Given the description of an element on the screen output the (x, y) to click on. 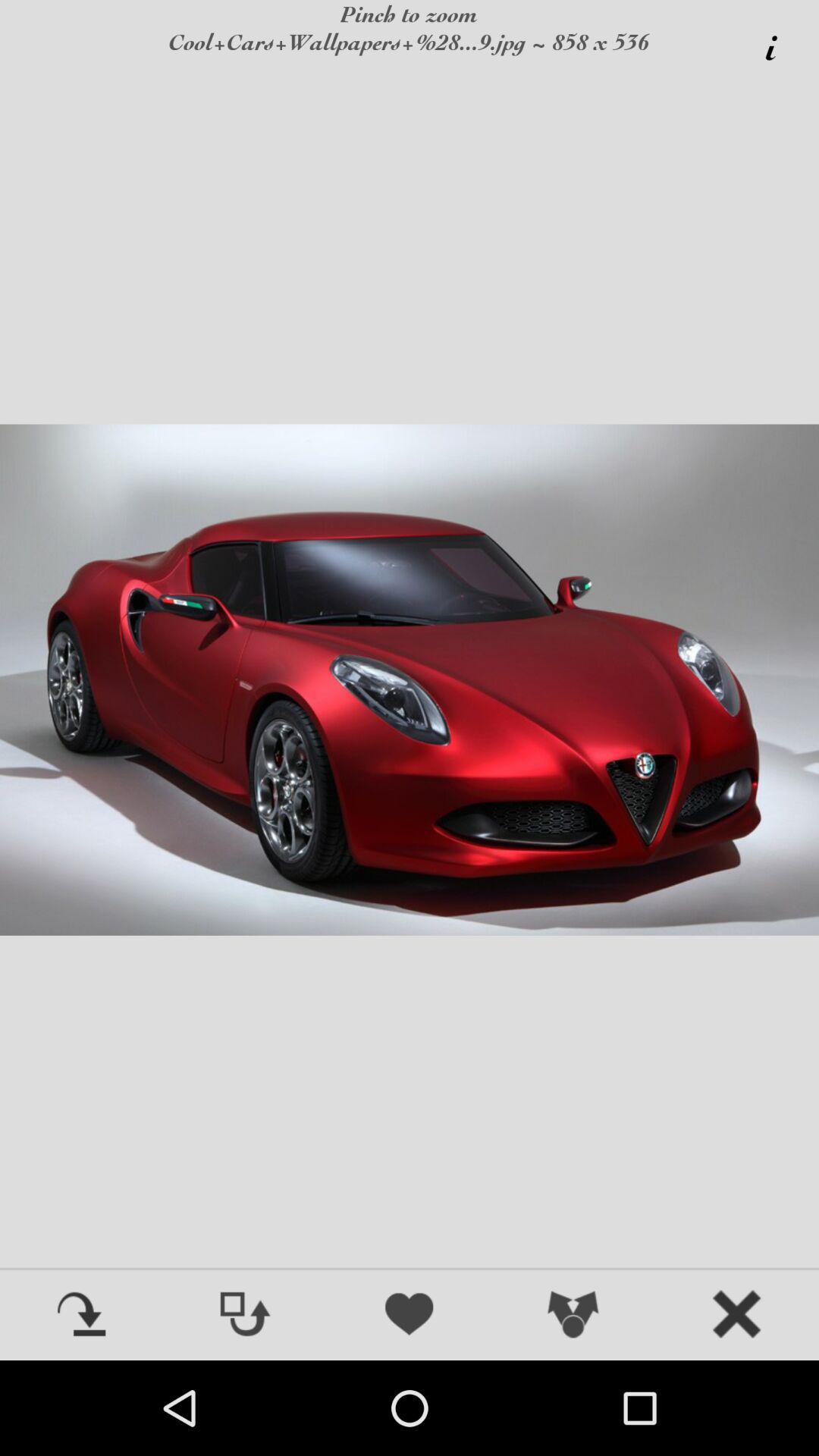
to delete something (737, 1315)
